Given the description of an element on the screen output the (x, y) to click on. 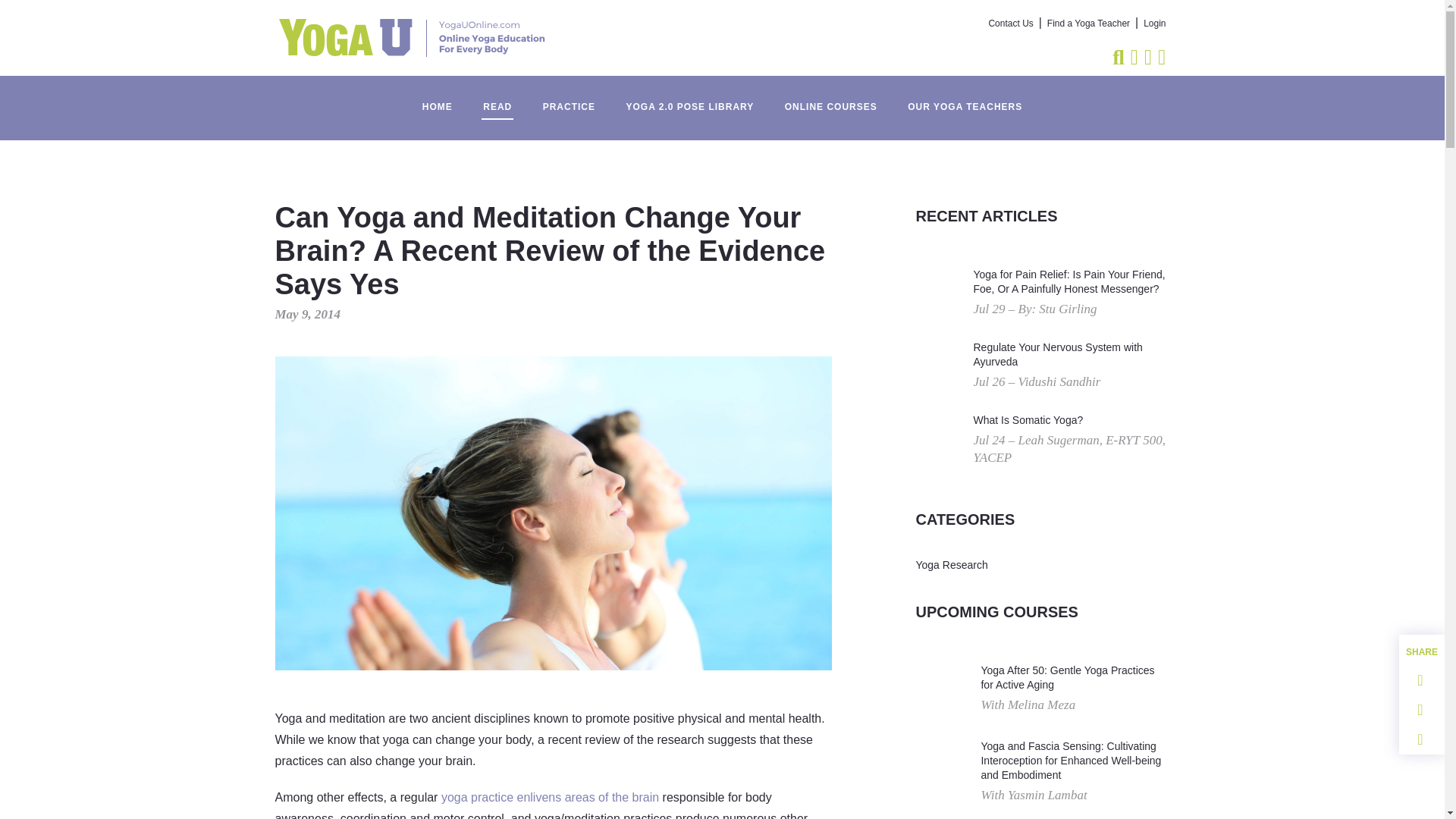
HOME (437, 99)
READ (496, 99)
OUR YOGA TEACHERS (964, 99)
yoga practice enlivens areas of the brain (550, 797)
YOGA 2.0 POSE LIBRARY (689, 99)
Find a Yoga Teacher (1088, 23)
ONLINE COURSES (831, 99)
PRACTICE (568, 99)
Contact Us (1011, 23)
